Given the description of an element on the screen output the (x, y) to click on. 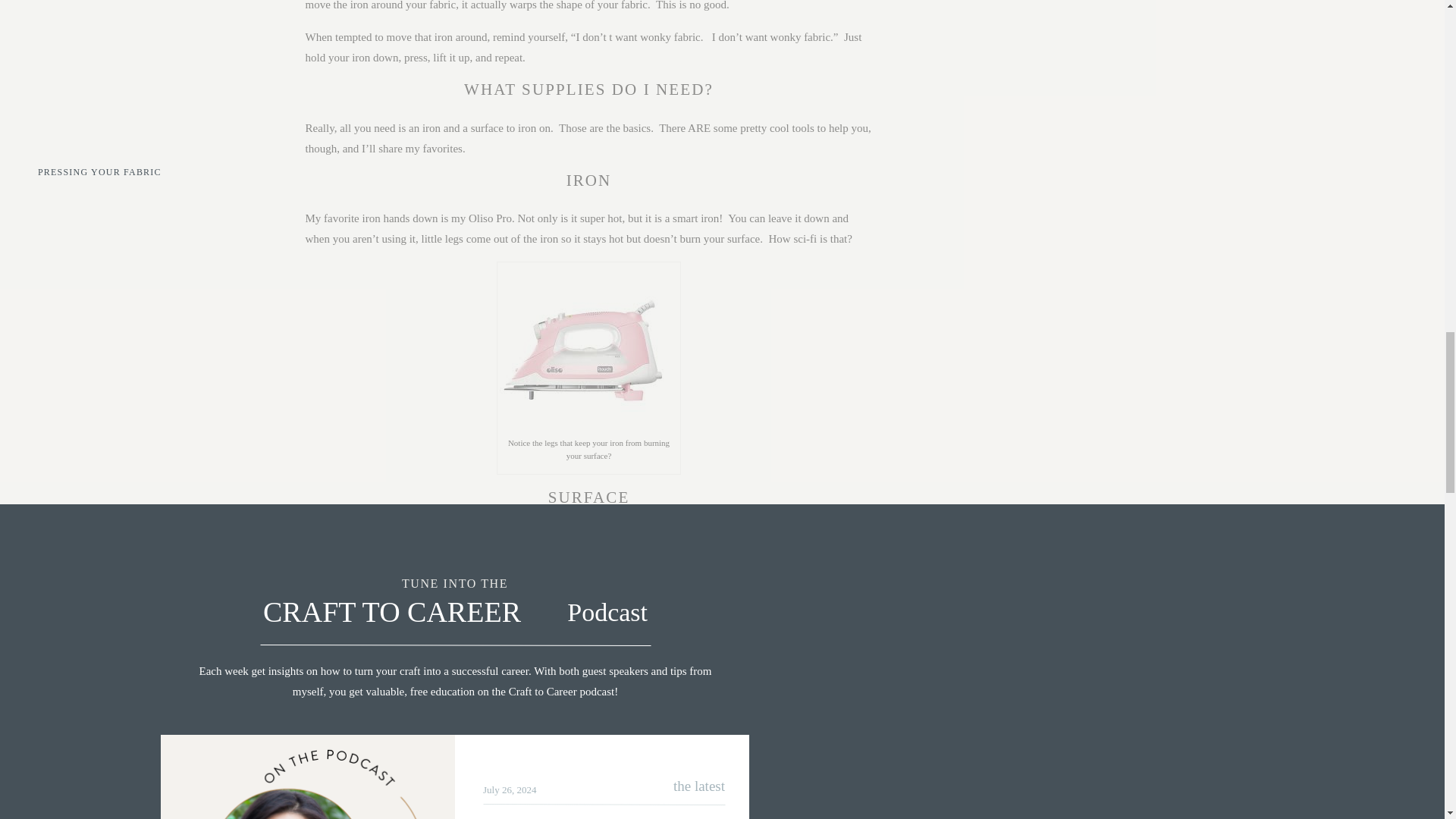
PRESSING YOUR FABRIC (169, 67)
Sewing Illustrations with Minki Kim (307, 776)
Oliso Pro (490, 218)
